Given the description of an element on the screen output the (x, y) to click on. 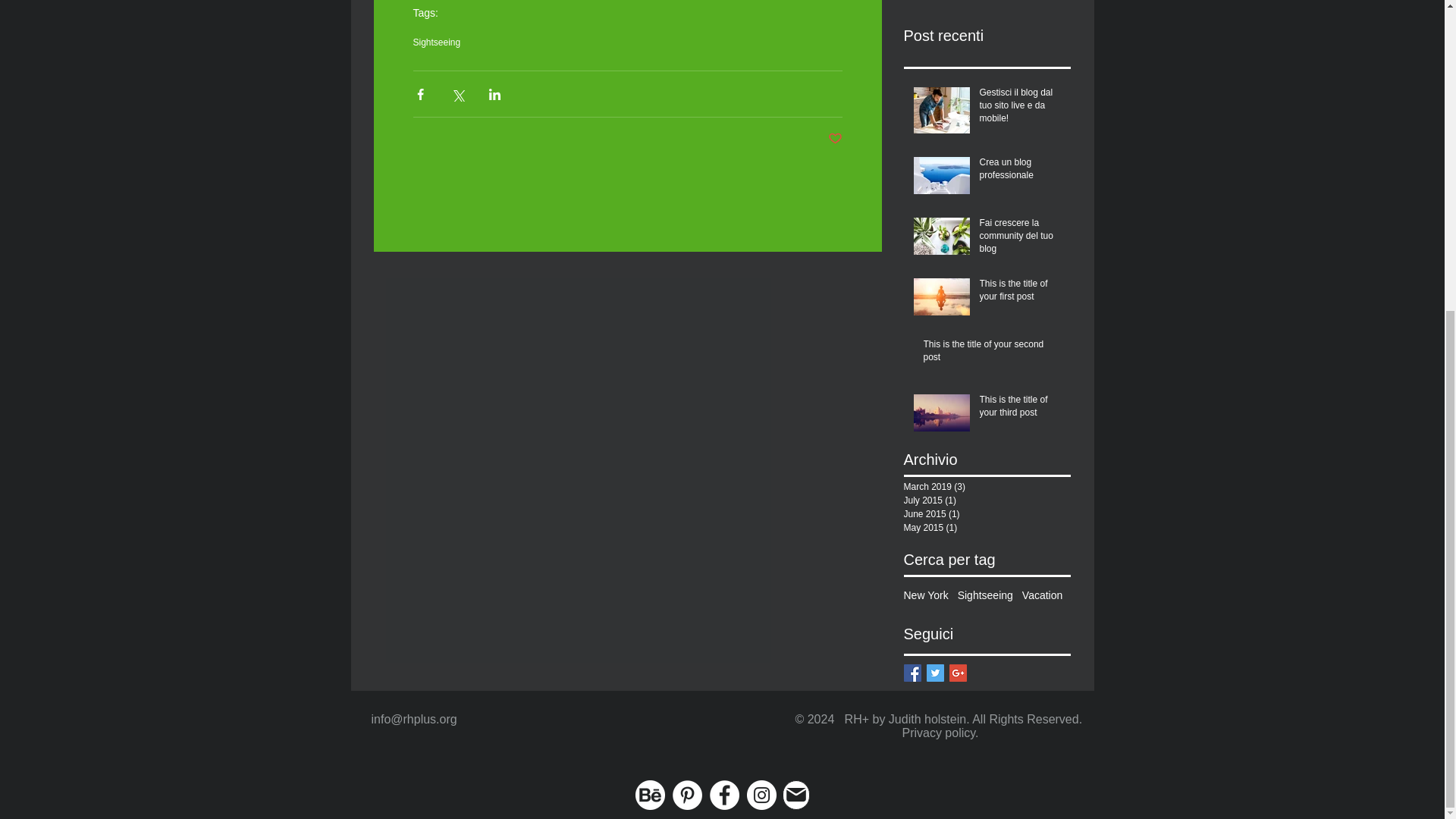
Crea un blog professionale (1020, 172)
Post not marked as liked (835, 139)
New York (926, 594)
Sightseeing (436, 41)
Sightseeing (985, 594)
This is the title of your first post (1020, 293)
This is the title of your second post (992, 354)
This is the title of your third post (1020, 409)
Fai crescere la community del tuo blog (1020, 239)
Vacation (1042, 594)
Gestisci il blog dal tuo sito live e da mobile! (1020, 108)
